Given the description of an element on the screen output the (x, y) to click on. 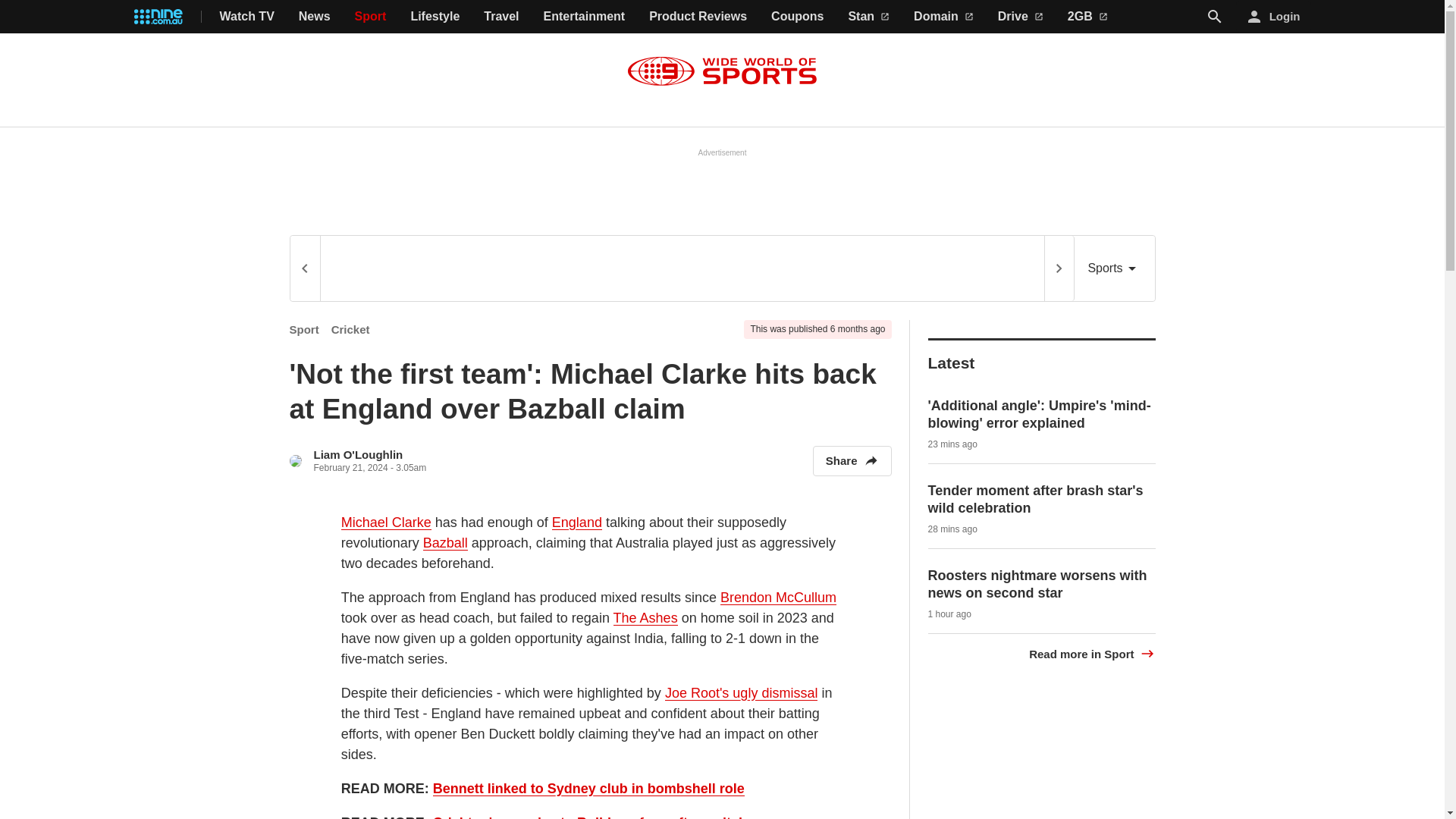
Coupons (797, 16)
Watch TV (247, 16)
Share (851, 460)
Entertainment (584, 16)
Lifestyle (435, 16)
Bennett linked to Sydney club in bombshell role (588, 788)
Sport (371, 16)
Michael Clarke (385, 521)
Stan (868, 16)
Crichton's promise to Bulldogs fans after switch (589, 816)
